Given the description of an element on the screen output the (x, y) to click on. 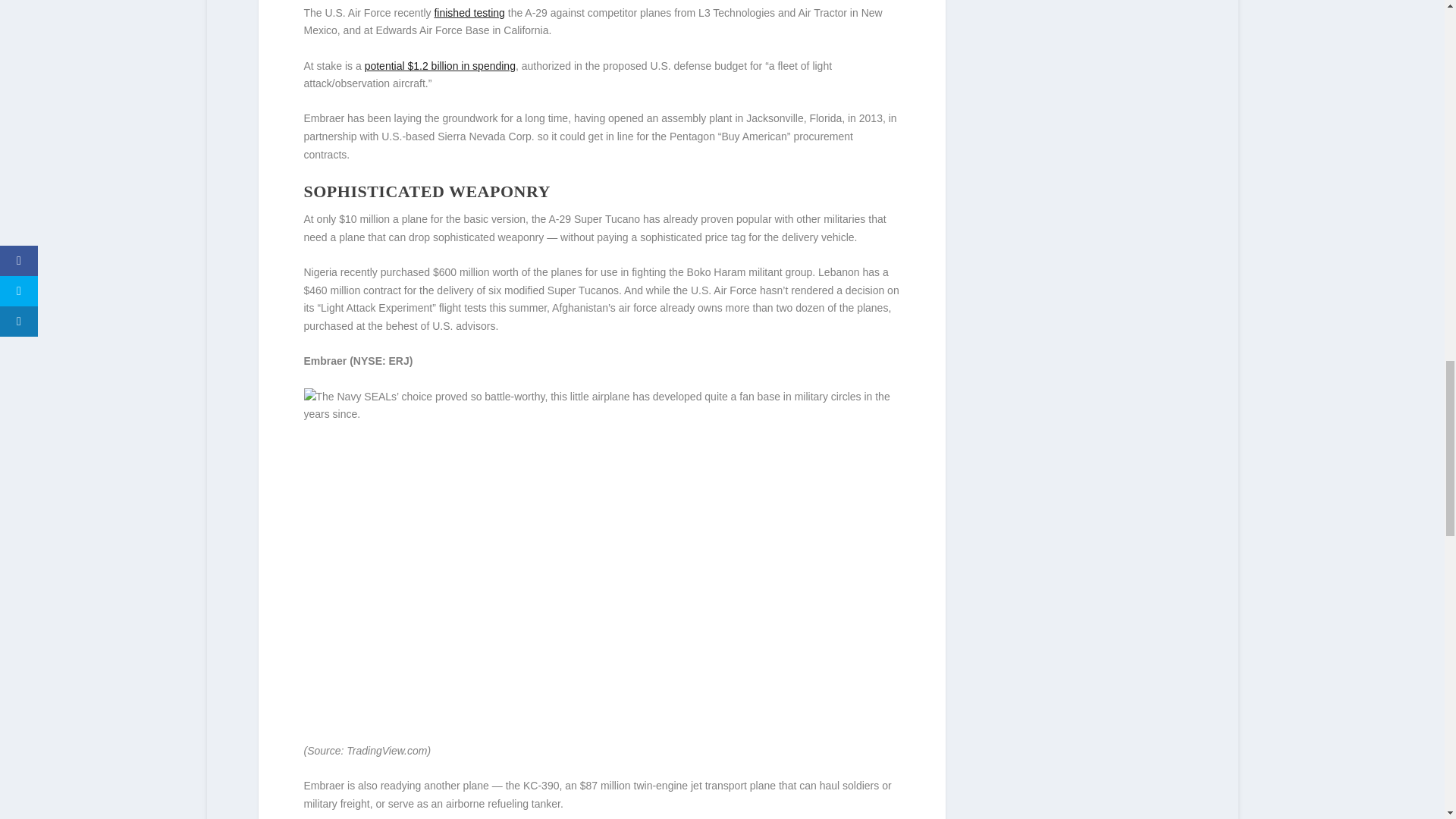
finished testing (468, 12)
